Given the description of an element on the screen output the (x, y) to click on. 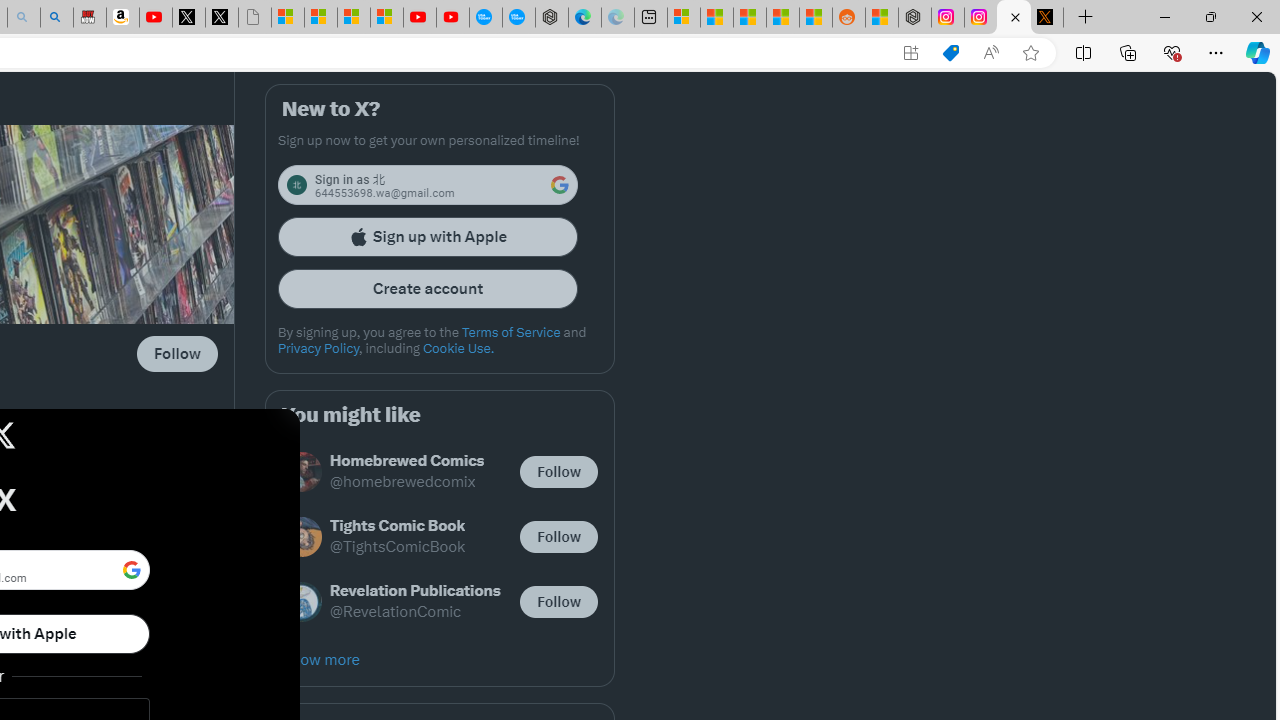
Untitled (255, 17)
Shanghai, China Weather trends | Microsoft Weather (815, 17)
App available. Install X (910, 53)
Gloom - YouTube (420, 17)
Shanghai, China weather forecast | Microsoft Weather (717, 17)
Microsoft account | Microsoft Account Privacy Settings (684, 17)
